Given the description of an element on the screen output the (x, y) to click on. 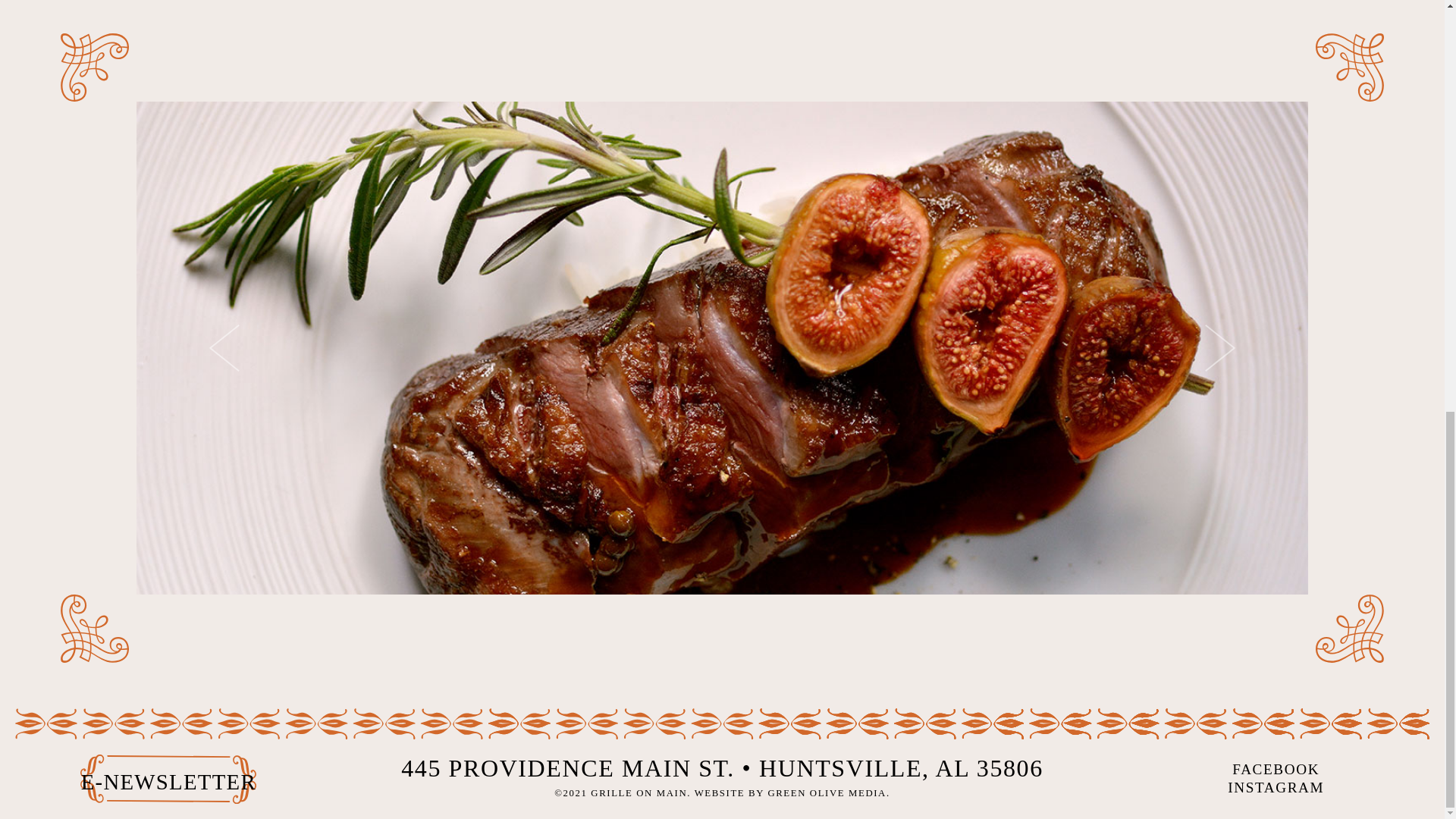
FACEBOOK (1275, 769)
E-NEWSLETTER (168, 781)
INSTAGRAM (1275, 787)
GREEN OLIVE MEDIA. (828, 793)
